Given the description of an element on the screen output the (x, y) to click on. 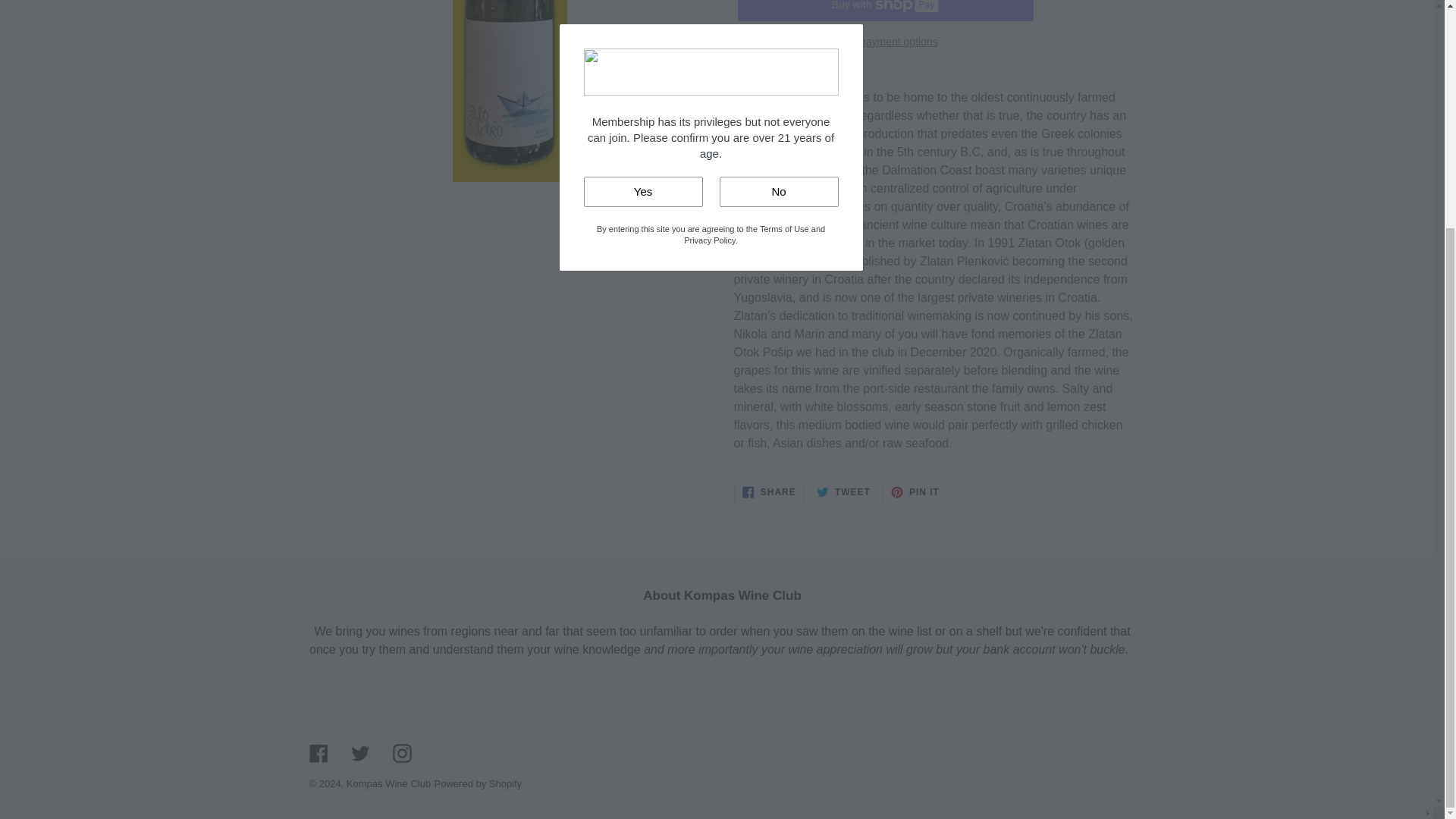
Facebook (914, 492)
Instagram (318, 752)
Twitter (402, 752)
Kompas Wine Club (359, 752)
More payment options (388, 783)
Powered by Shopify (769, 492)
